Given the description of an element on the screen output the (x, y) to click on. 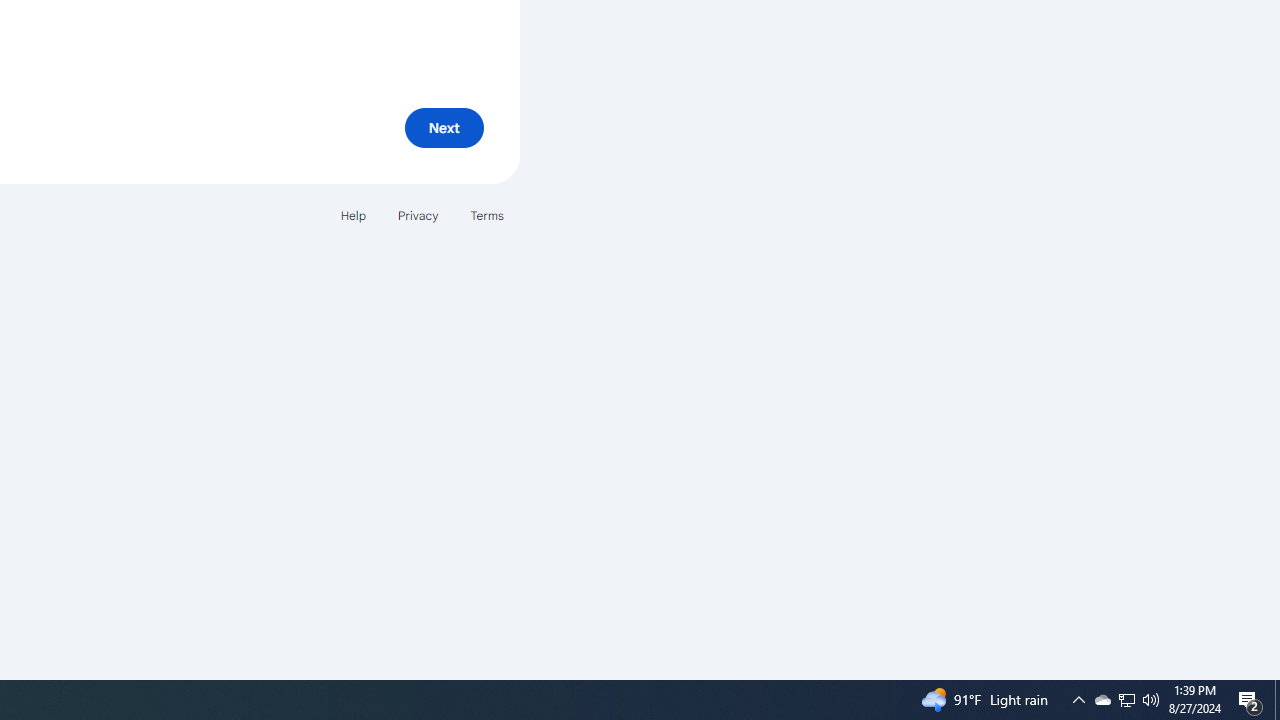
Help (352, 214)
Terms (486, 214)
Next (443, 127)
Privacy (417, 214)
